Given the description of an element on the screen output the (x, y) to click on. 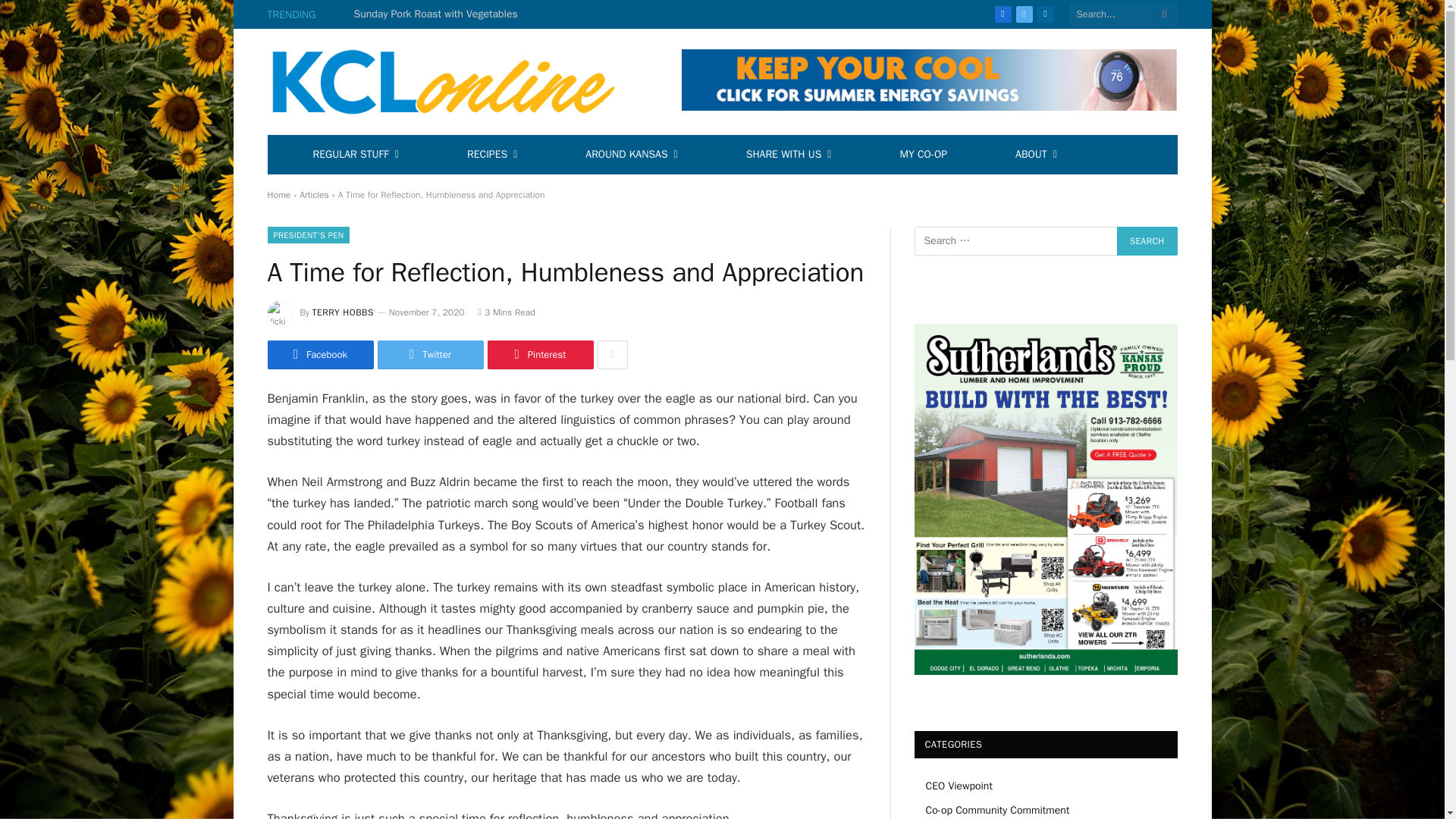
SHARE WITH US (788, 154)
RECIPES (491, 154)
AROUND KANSAS (631, 154)
Search (1146, 240)
Search (1146, 240)
Facebook (1002, 13)
Kansas Country Living Magazine (452, 81)
Share on Pinterest (539, 354)
LinkedIn (1045, 13)
Share on Facebook (319, 354)
Posts by Terry Hobbs (343, 312)
Sunday Pork Roast with Vegetables (439, 14)
Show More Social Sharing (611, 354)
REGULAR STUFF (356, 154)
